Given the description of an element on the screen output the (x, y) to click on. 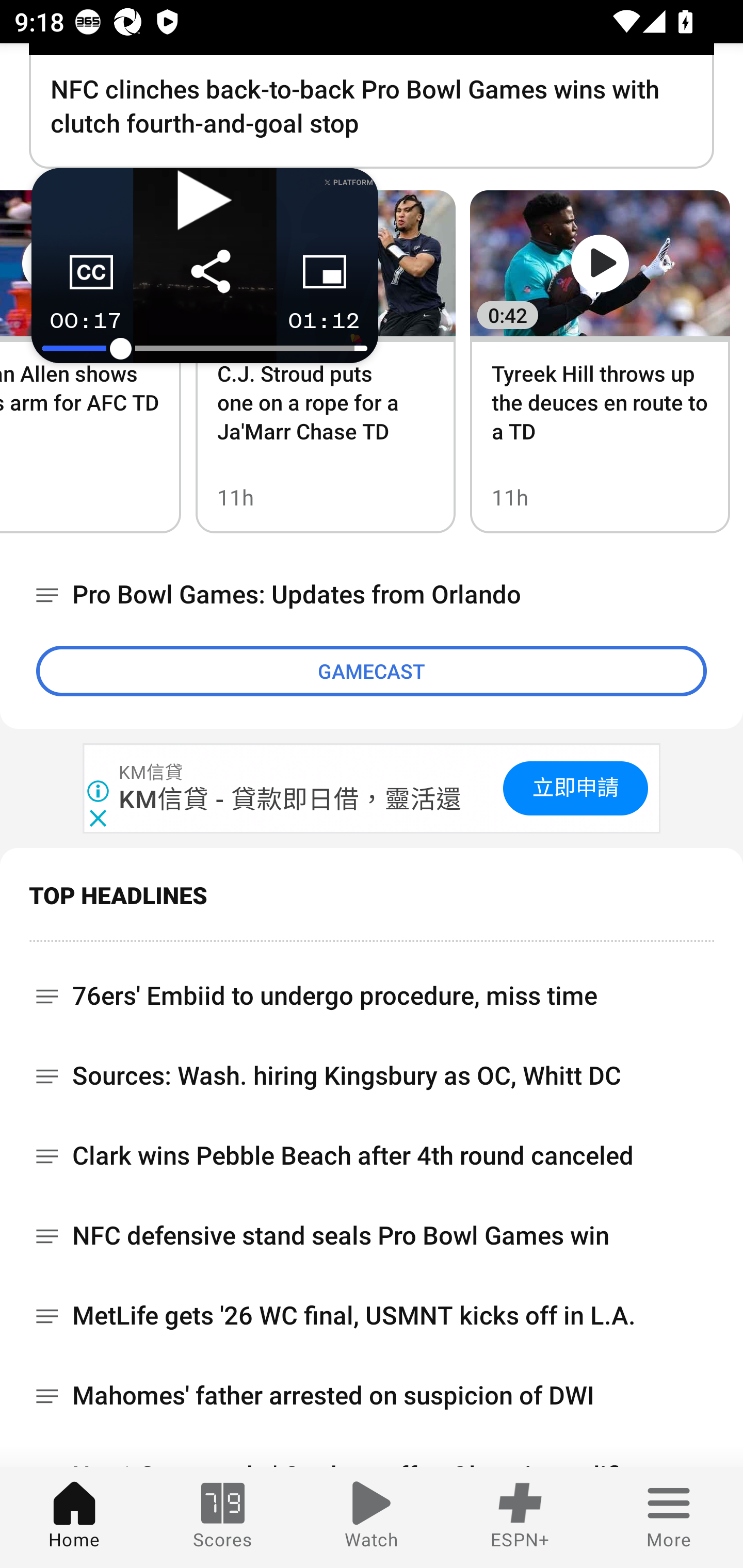
 Pro Bowl Games: Updates from Orlando (371, 595)
GAMECAST (371, 671)
KM信貸 (151, 773)
立即申請 (575, 788)
KM信貸 - 貸款即日借，靈活還 (290, 798)
 76ers' Embiid to undergo procedure, miss time (371, 989)
 Sources: Wash. hiring Kingsbury as OC, Whitt DC (371, 1076)
 Clark wins Pebble Beach after 4th round canceled (371, 1156)
 NFC defensive stand seals Pro Bowl Games win (371, 1236)
 Mahomes' father arrested on suspicion of DWI (371, 1396)
Scores (222, 1517)
Watch (371, 1517)
ESPN+ (519, 1517)
More (668, 1517)
